Given the description of an element on the screen output the (x, y) to click on. 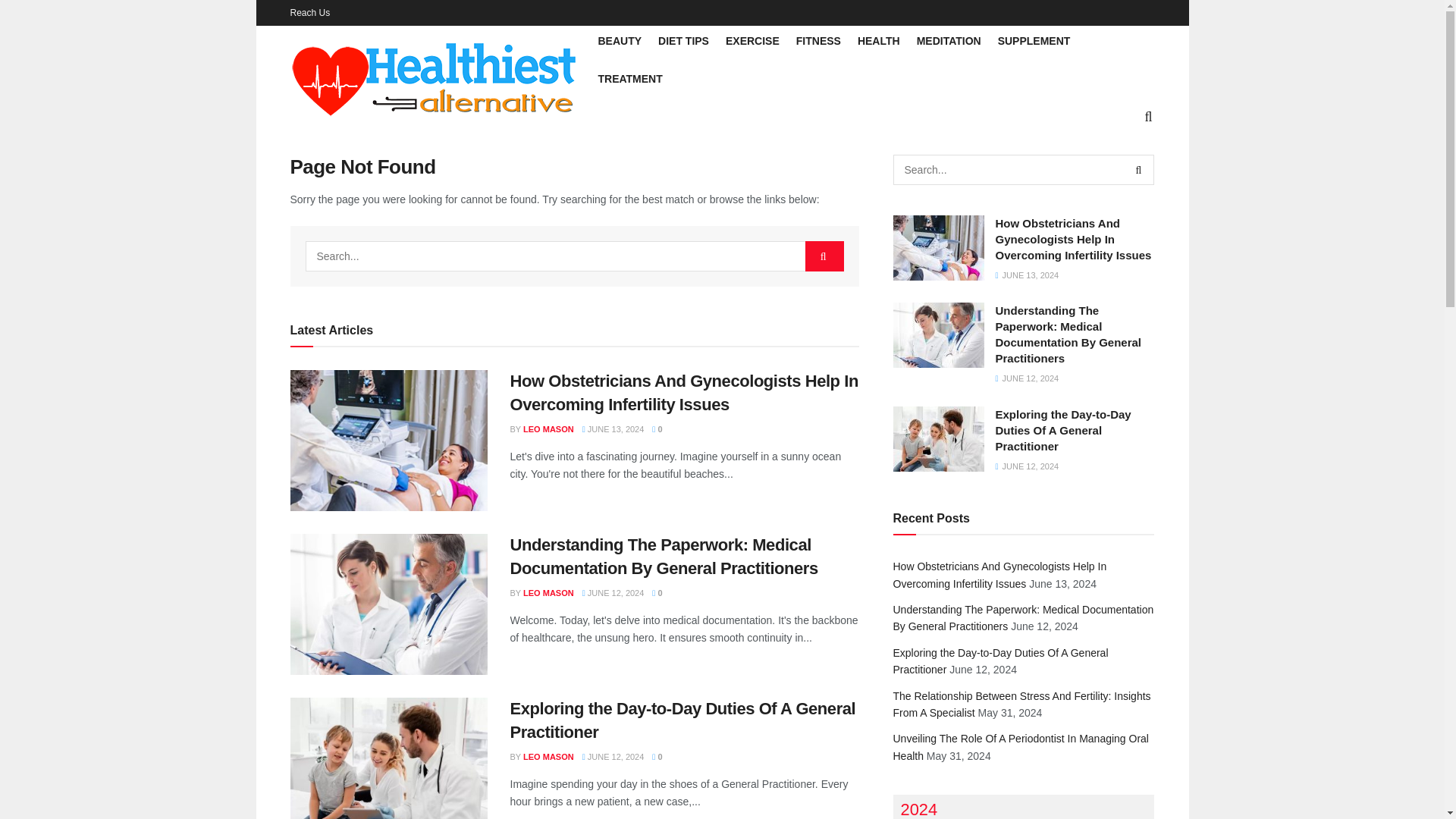
LEO MASON (547, 592)
TREATMENT (629, 78)
FITNESS (818, 40)
EXERCISE (751, 40)
DIET TIPS (683, 40)
Reach Us (309, 12)
LEO MASON (547, 756)
LEO MASON (547, 429)
0 (657, 592)
BEAUTY (619, 40)
JUNE 13, 2024 (613, 429)
SUPPLEMENT (1033, 40)
JUNE 12, 2024 (613, 592)
MEDITATION (949, 40)
